Given the description of an element on the screen output the (x, y) to click on. 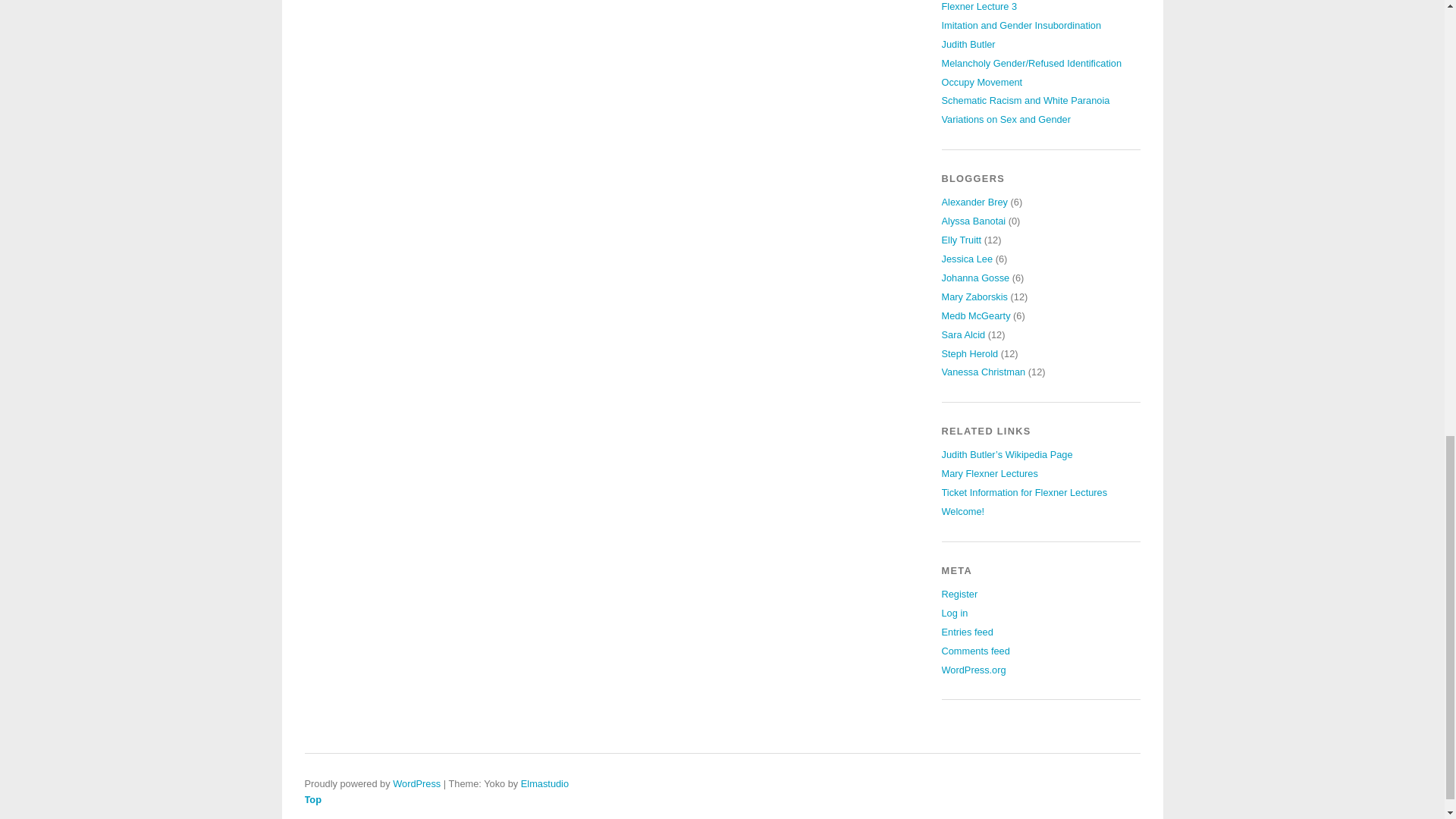
Posts by Mary Zaborskis (974, 296)
Posts by Alexander Brey (975, 202)
Posts by Medb McGearty (976, 315)
Posts by Johanna Gosse (976, 277)
Posts by Steph Herold (970, 352)
Posts by Jessica Lee (967, 258)
Posts by Vanessa Christman (984, 371)
Posts by Alyssa Banotai (974, 220)
